Given the description of an element on the screen output the (x, y) to click on. 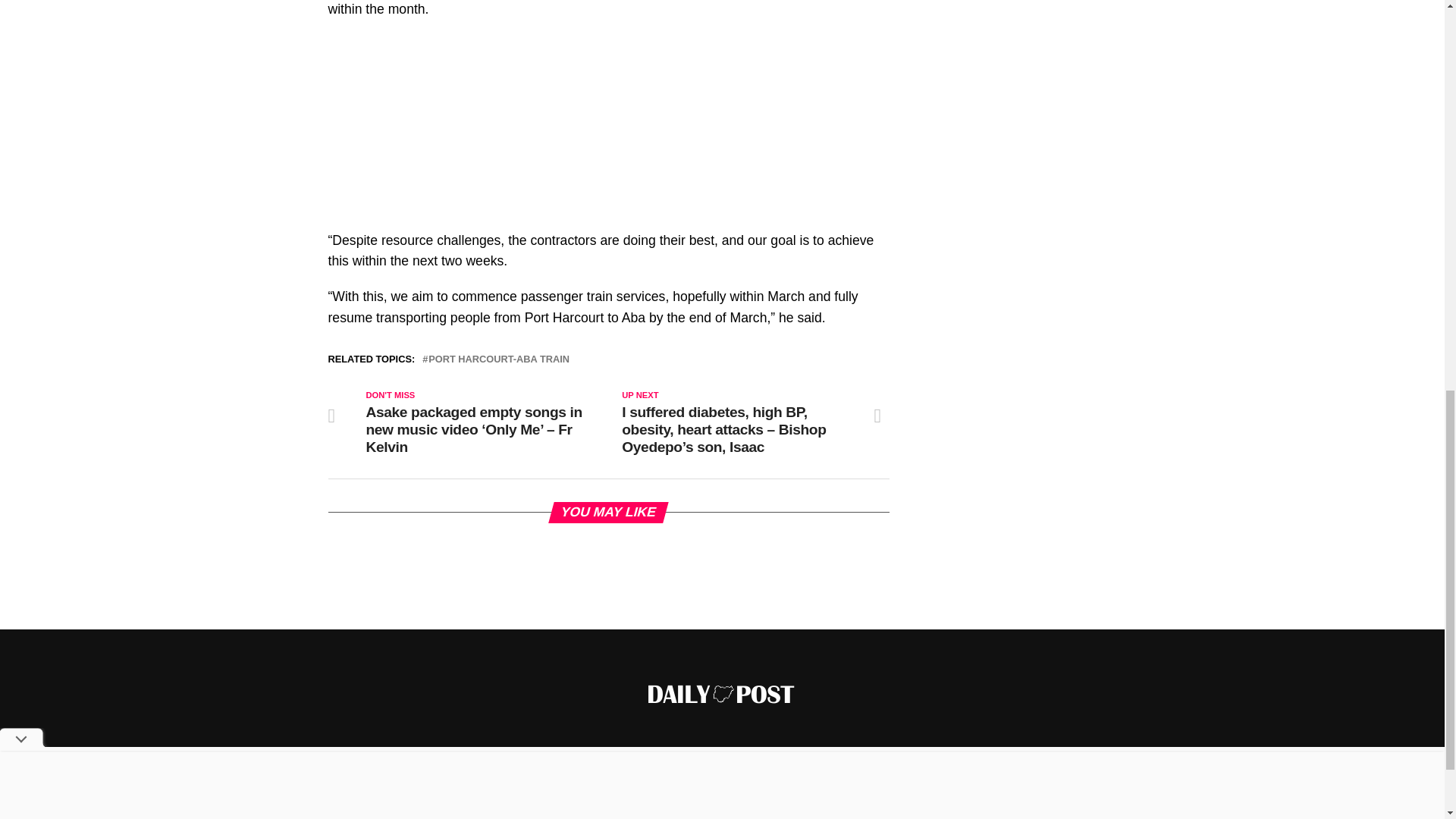
PRIVACY-POLICY (815, 809)
ABOUT US (635, 809)
CONTACT US (716, 809)
PORT HARCOURT-ABA TRAIN (498, 359)
ADVERTISE (558, 809)
TERMS (898, 809)
3rd party ad content (1055, 94)
